Given the description of an element on the screen output the (x, y) to click on. 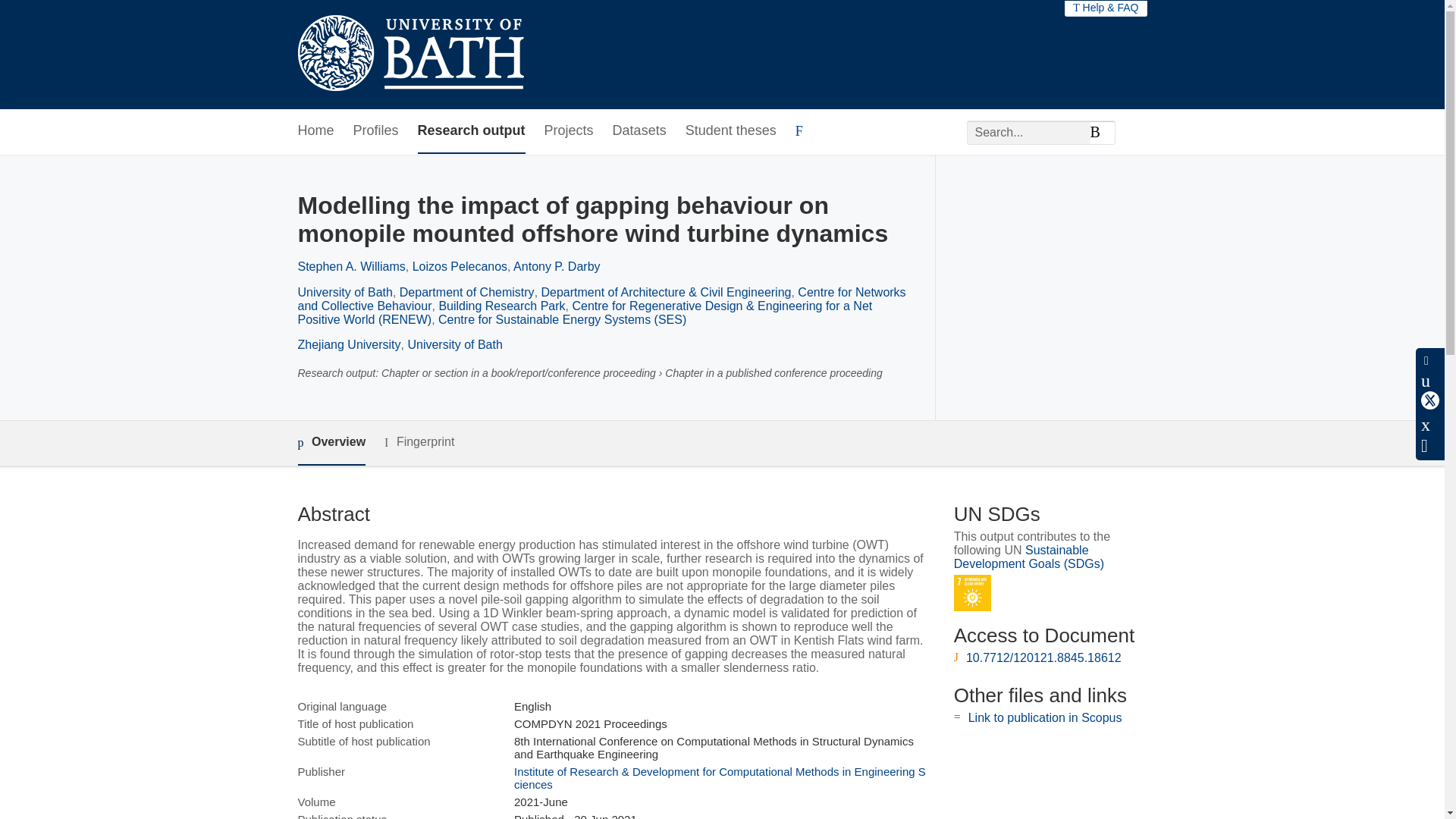
SDG 7 - Affordable and Clean Energy (972, 592)
Antony P. Darby (556, 266)
University of Bath (344, 291)
Department of Chemistry (466, 291)
Link to publication in Scopus (1045, 717)
Loizos Pelecanos (459, 266)
Building Research Park (501, 305)
University of Bath (454, 344)
Research output (471, 130)
Centre for Networks and Collective Behaviour (601, 298)
